Given the description of an element on the screen output the (x, y) to click on. 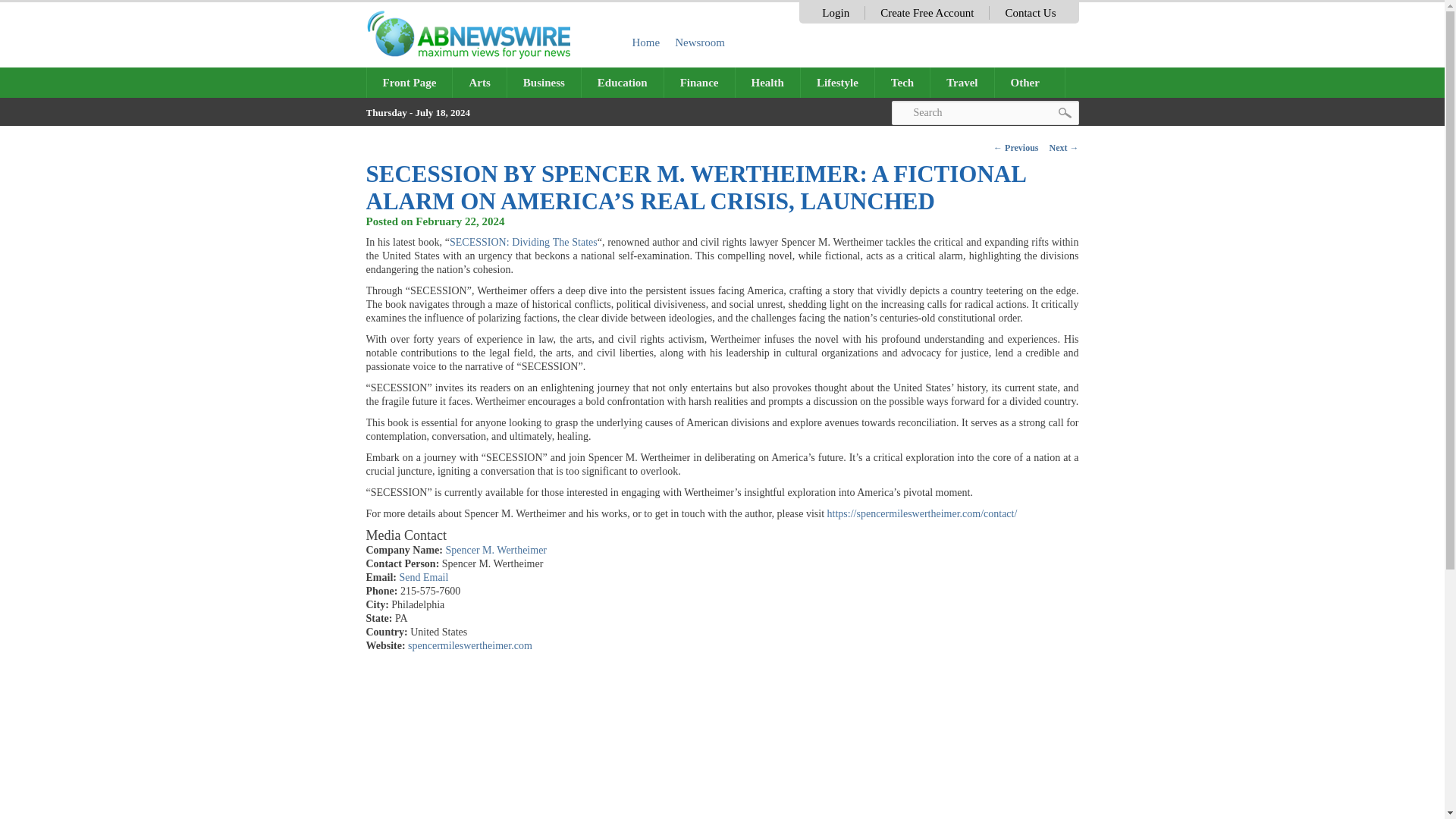
Login (835, 12)
Contact Us (1030, 12)
Travel (961, 82)
Business (544, 82)
Arts (478, 82)
Health (767, 82)
Finance (698, 82)
Search (984, 112)
Other (1029, 82)
Home (646, 42)
Lifestyle (836, 82)
Newsroom (700, 42)
Tech (901, 82)
Search (984, 112)
Create Free Account (926, 12)
